Given the description of an element on the screen output the (x, y) to click on. 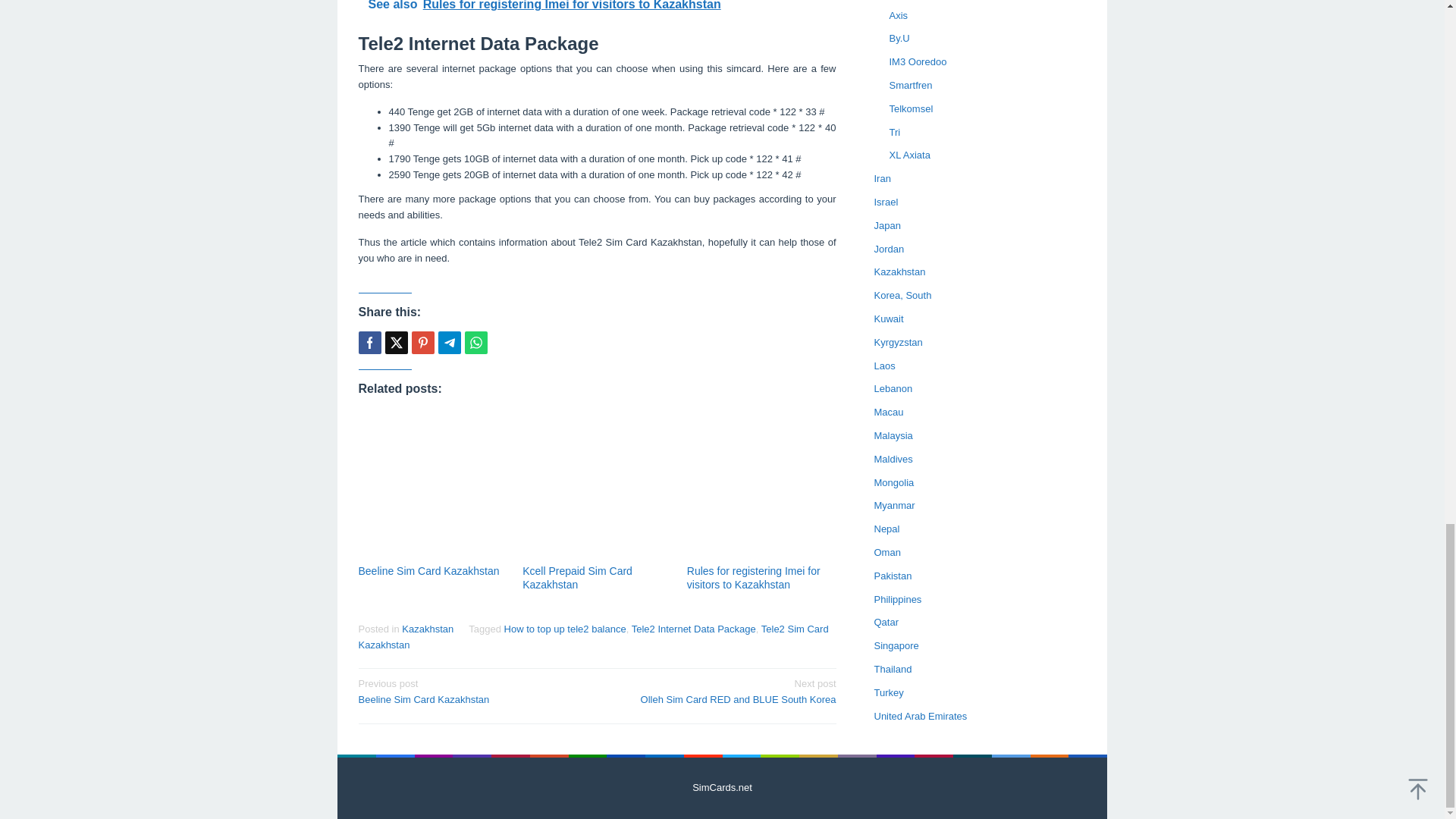
Beeline Sim Card Kazakhstan (428, 571)
Kcell Prepaid Sim Card Kazakhstan (576, 577)
Rules for registering Imei for visitors to Kazakhstan (754, 577)
Kazakhstan (426, 628)
Tweet this (396, 342)
How to top up tele2 balance (564, 628)
Share this (369, 342)
Tele2 Internet Data Package (693, 628)
